Given the description of an element on the screen output the (x, y) to click on. 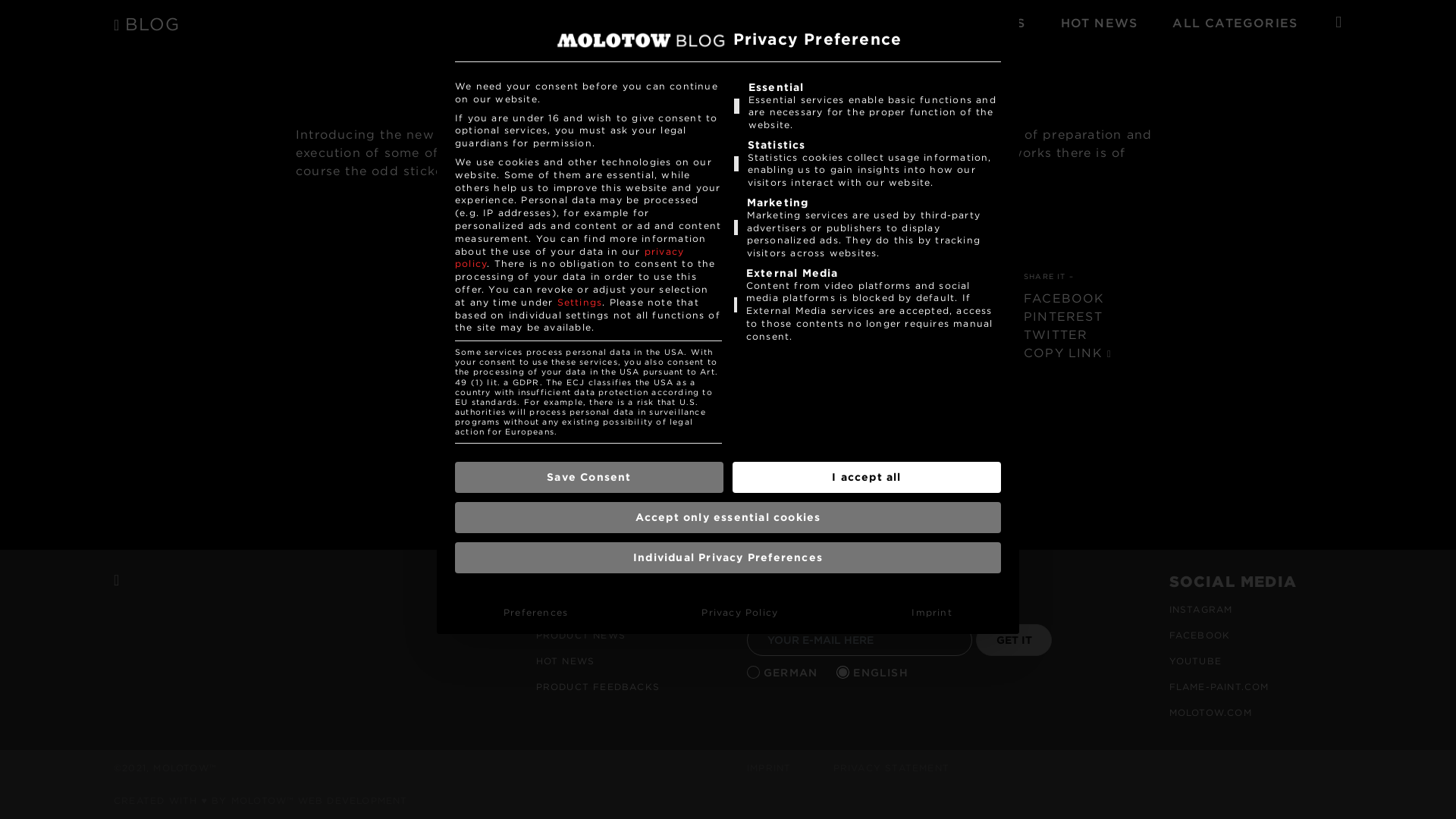
More infos here on Facebook (748, 170)
